Given the description of an element on the screen output the (x, y) to click on. 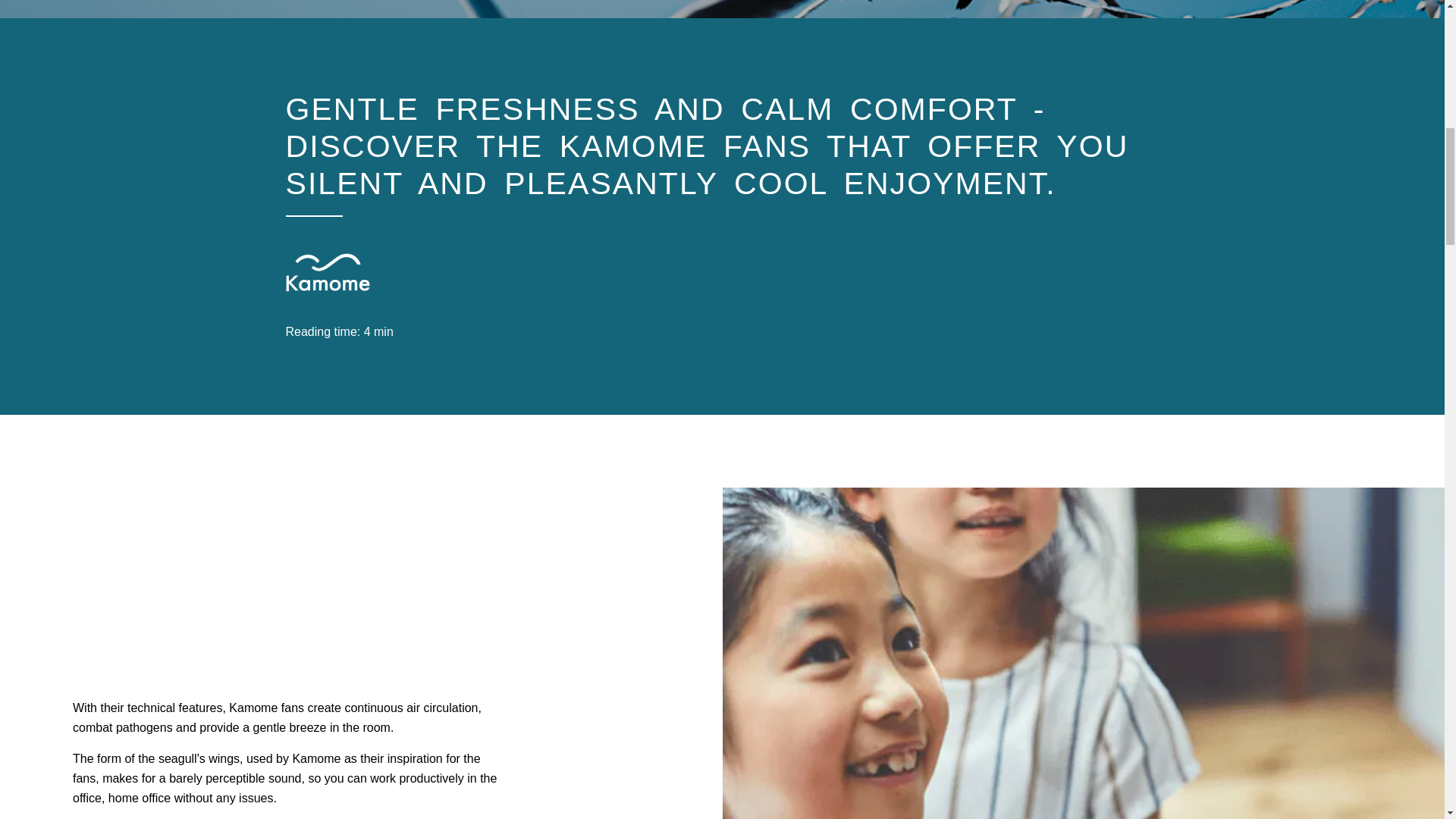
Kamome Logo weiss (327, 272)
